Given the description of an element on the screen output the (x, y) to click on. 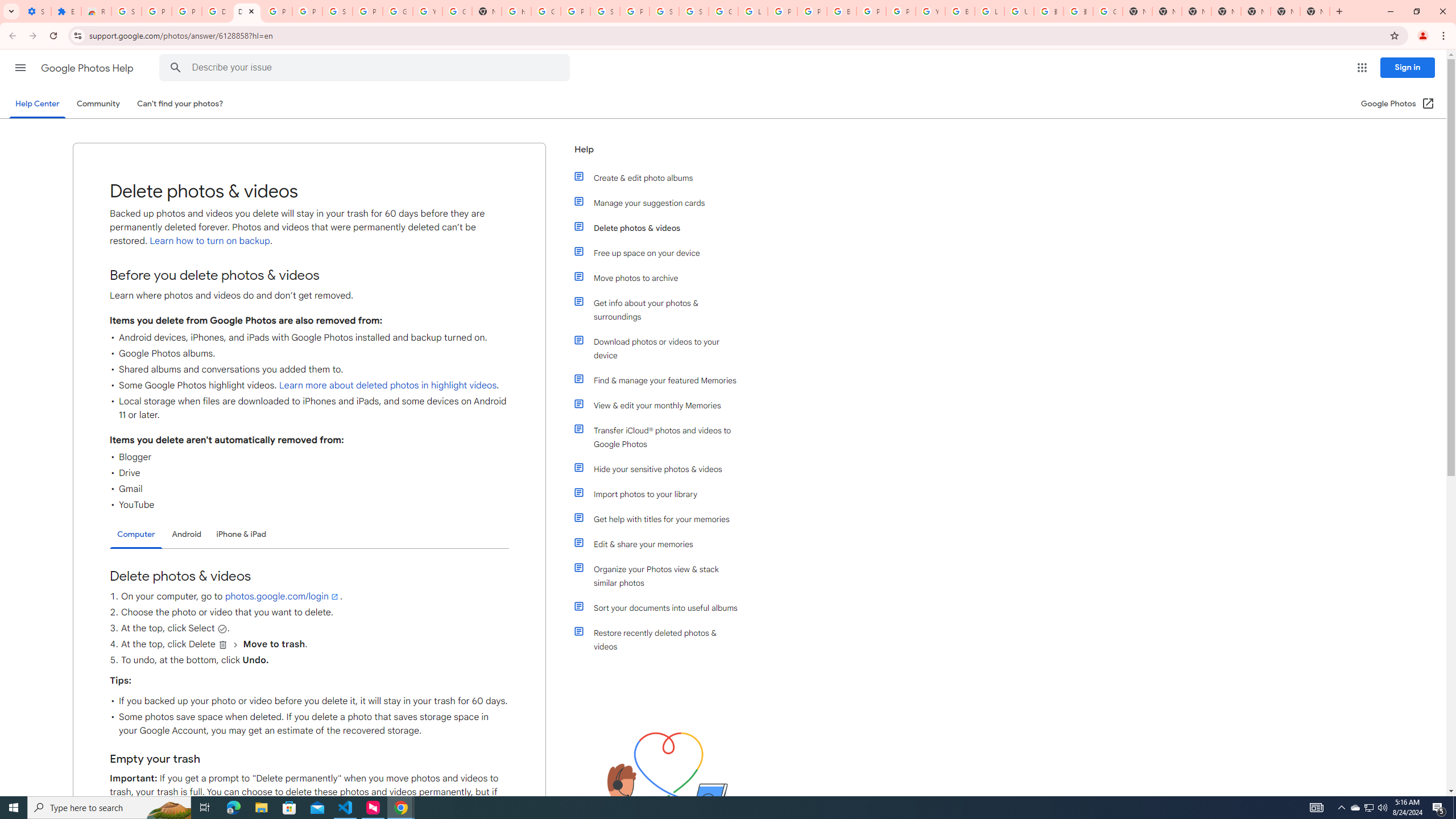
Import photos to your library (661, 493)
Sign in - Google Accounts (126, 11)
and then (235, 644)
Delete photos & videos - Computer - Google Photos Help (216, 11)
Sign in - Google Accounts (693, 11)
Edit & share your memories (661, 543)
Computer (136, 534)
Sort your documents into useful albums (661, 607)
